Given the description of an element on the screen output the (x, y) to click on. 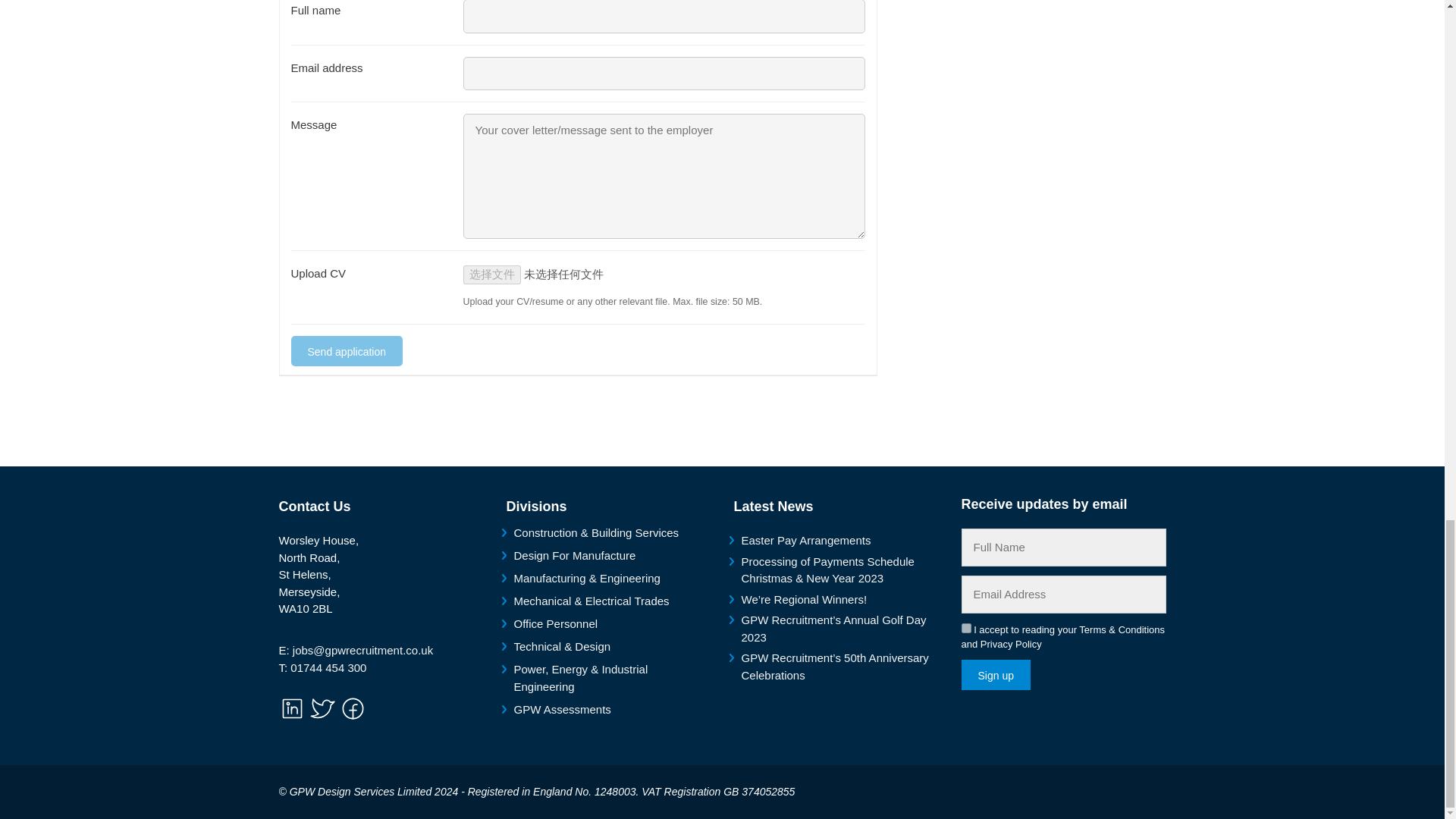
Sign up (995, 675)
Send application (347, 350)
